Given the description of an element on the screen output the (x, y) to click on. 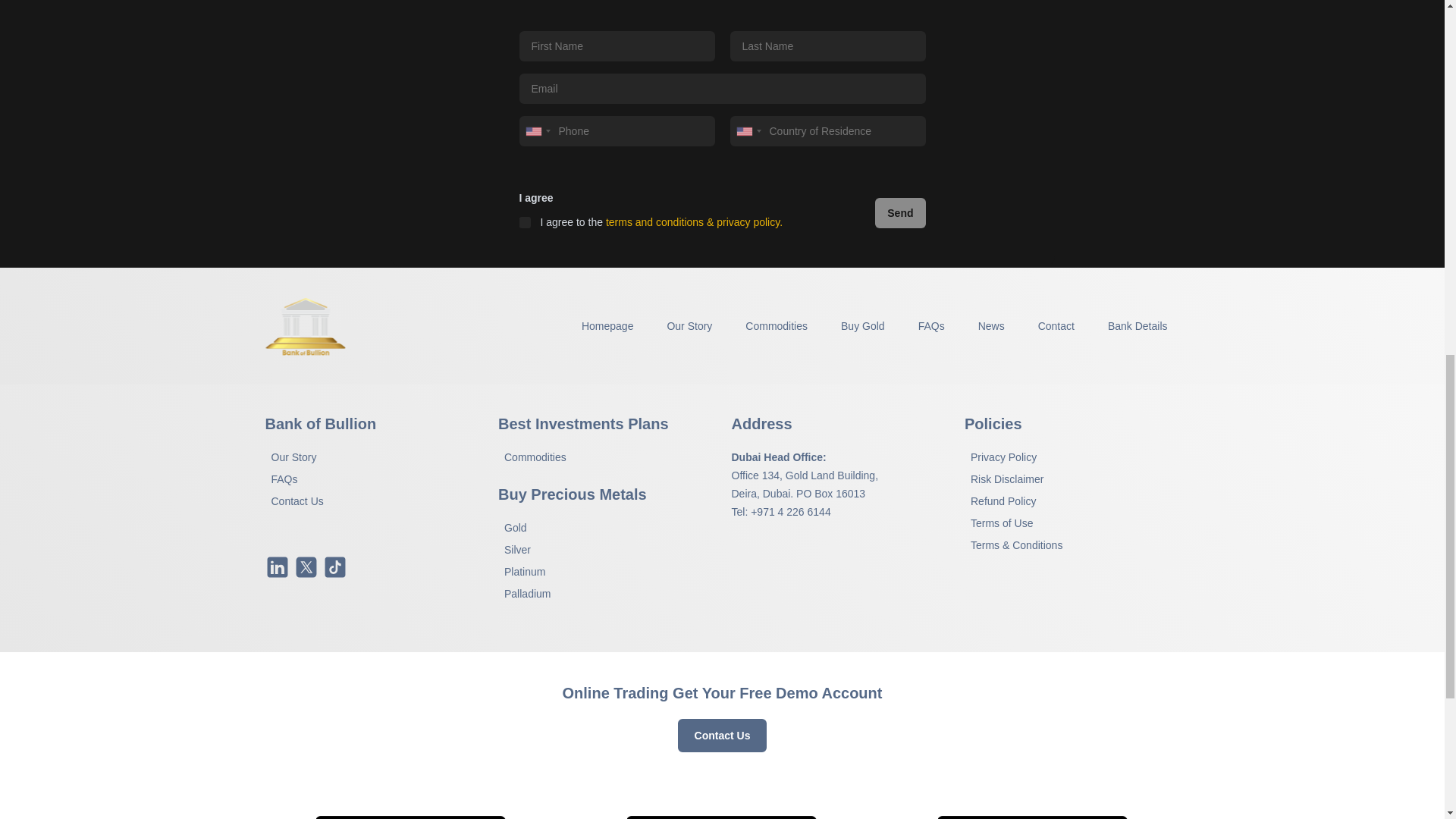
Terms of Use (1001, 522)
News (991, 325)
Commodities (534, 457)
Palladium (526, 593)
Our Story (688, 325)
Privacy Policy (1002, 457)
Silver (517, 549)
Contact Us (297, 500)
Our Story (293, 457)
Send (899, 213)
